Given the description of an element on the screen output the (x, y) to click on. 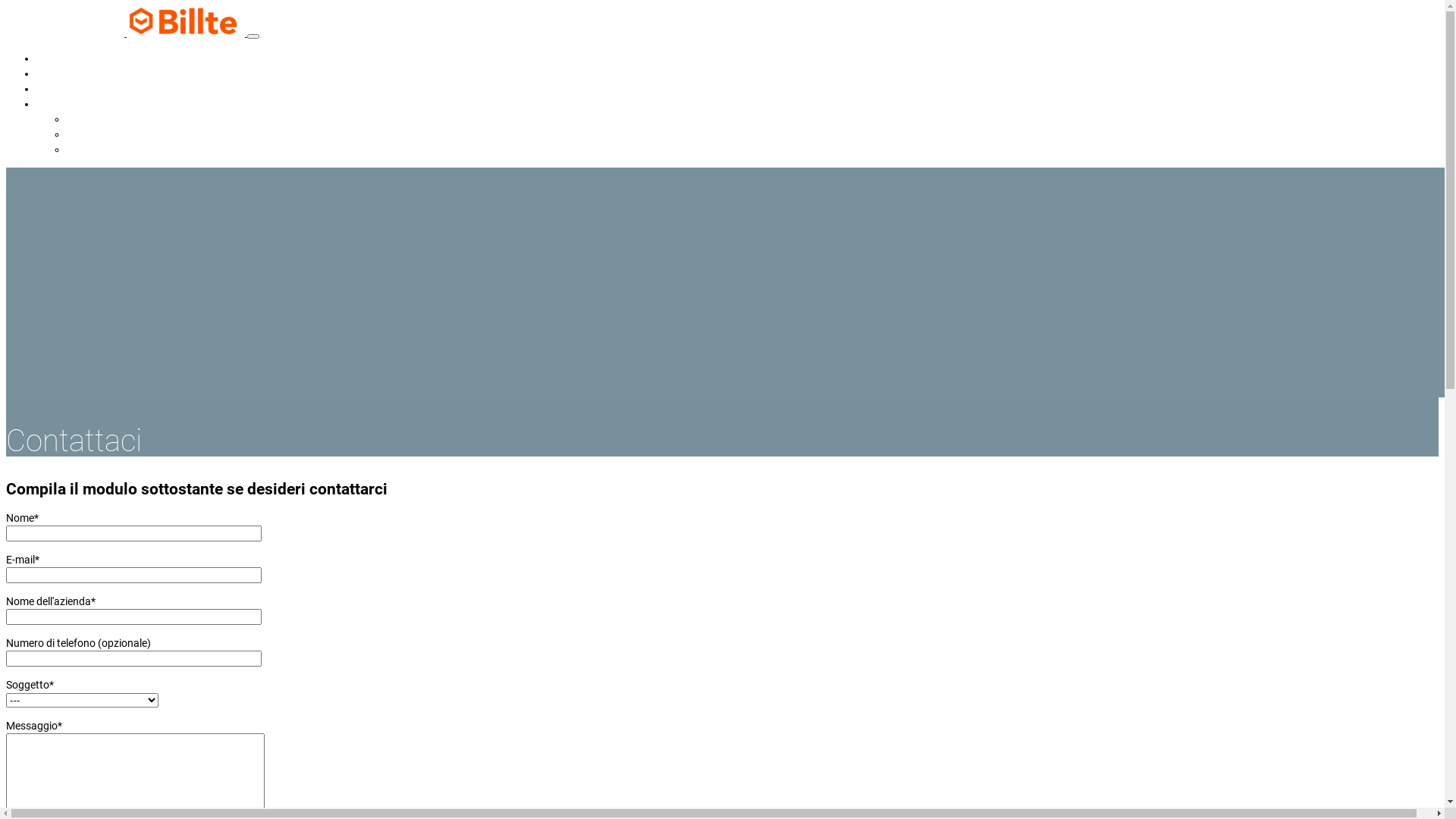
Contattaci Element type: text (61, 73)
Notizie Element type: text (52, 58)
Italiano Element type: text (54, 103)
English Element type: text (83, 118)
Soluzioni Element type: text (57, 88)
Deutsch Element type: text (85, 134)
